Given the description of an element on the screen output the (x, y) to click on. 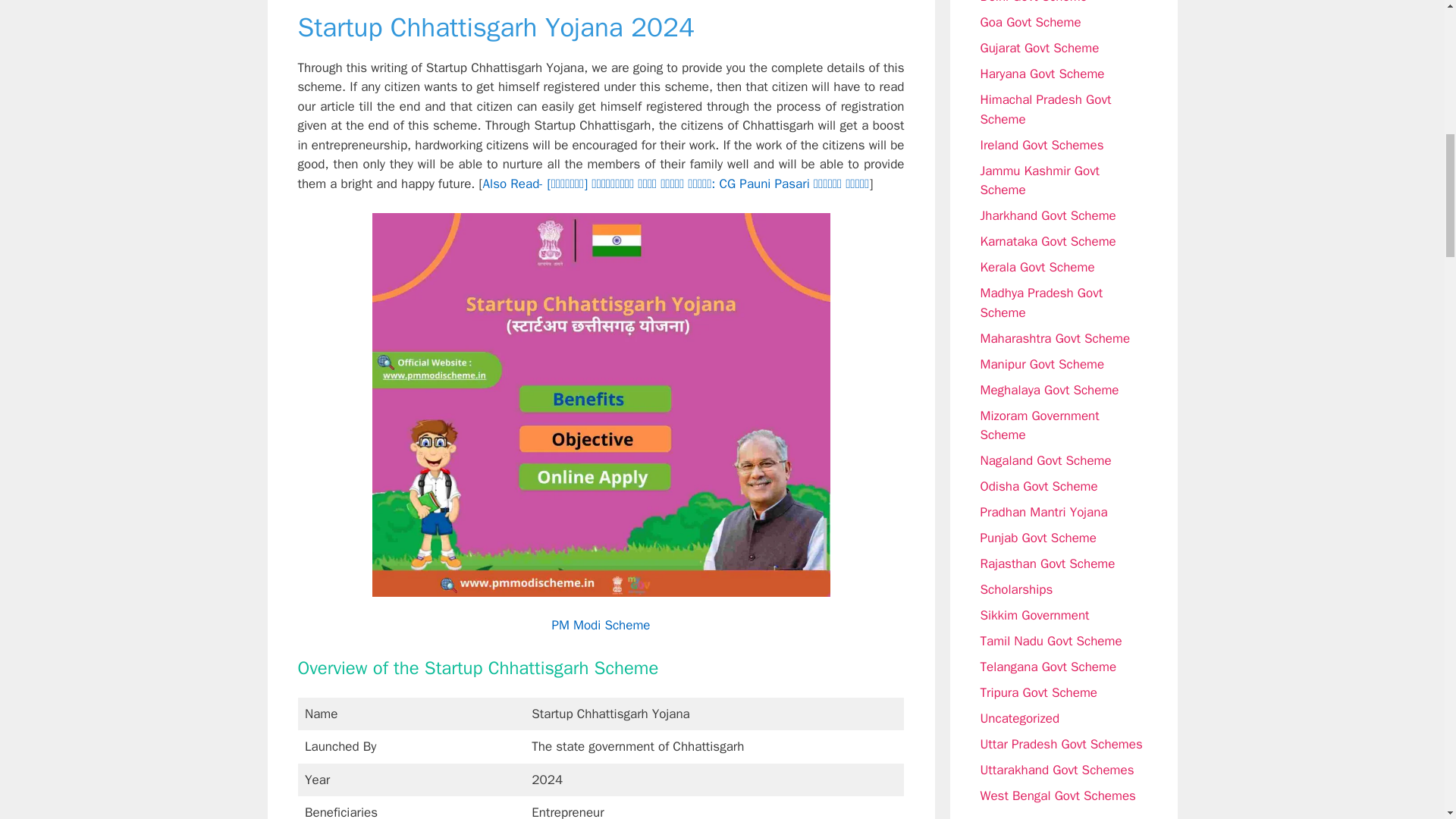
PM Modi Scheme (600, 625)
